Given the description of an element on the screen output the (x, y) to click on. 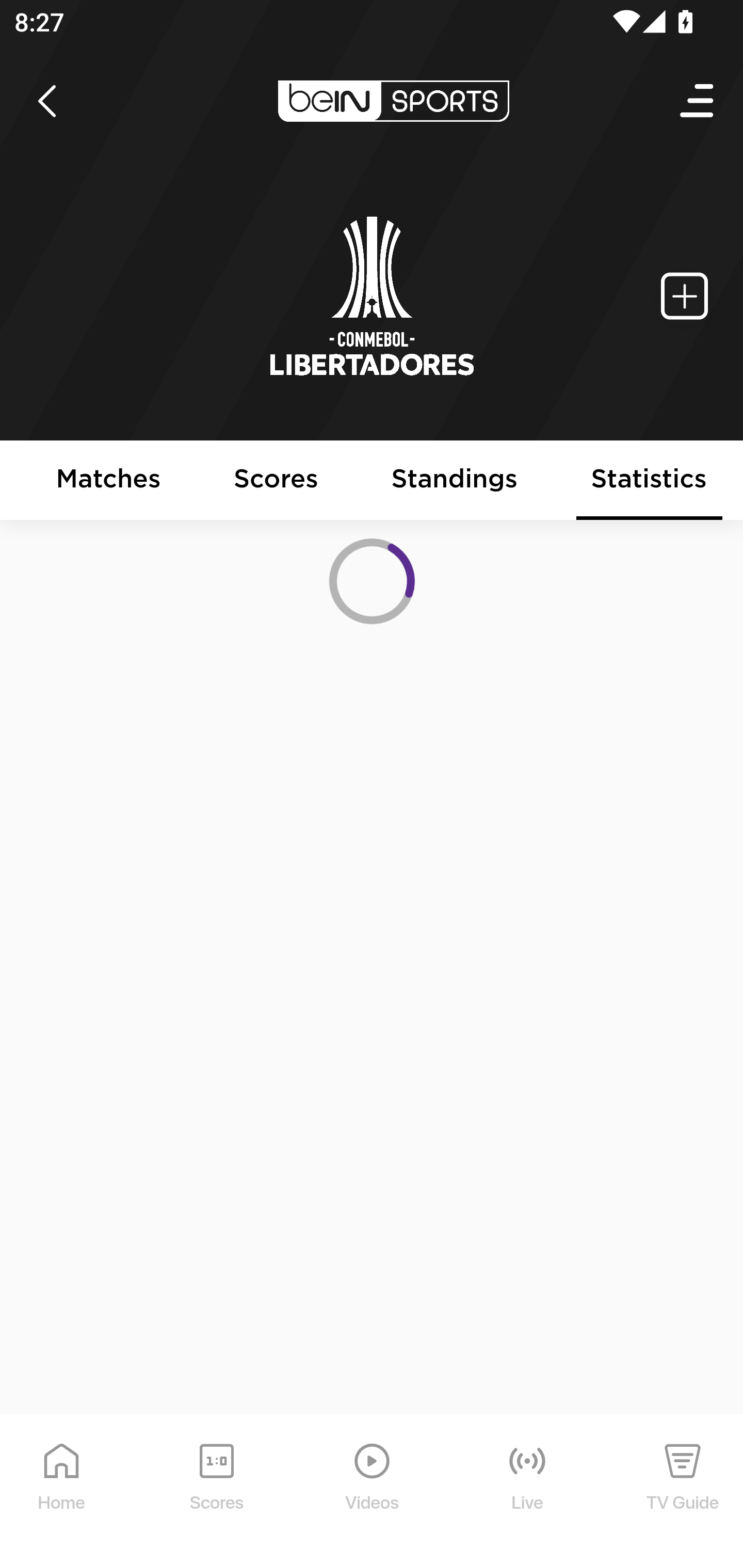
en-us?platform=mobile_android bein logo white (392, 101)
icon back (46, 101)
Open Menu Icon (697, 101)
Matches (107, 480)
Scores (275, 480)
Standings (454, 480)
Statistics (649, 480)
Home Home Icon Home (61, 1491)
Scores Scores Icon Scores (216, 1491)
Videos Videos Icon Videos (372, 1491)
TV Guide TV Guide Icon TV Guide (682, 1491)
